Given the description of an element on the screen output the (x, y) to click on. 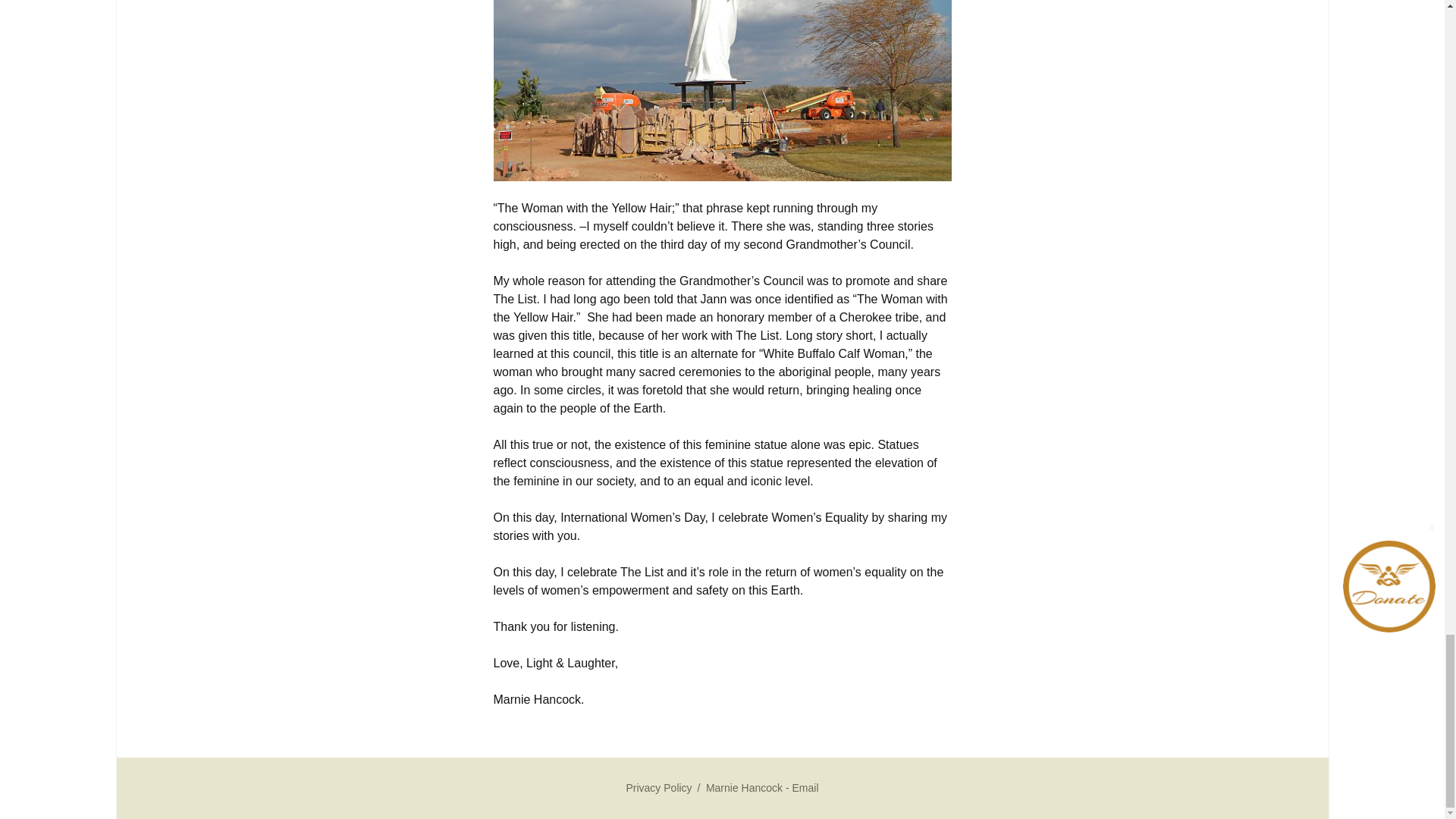
Marnie Hancock (746, 787)
Email (805, 787)
Privacy Policy (658, 787)
